Given the description of an element on the screen output the (x, y) to click on. 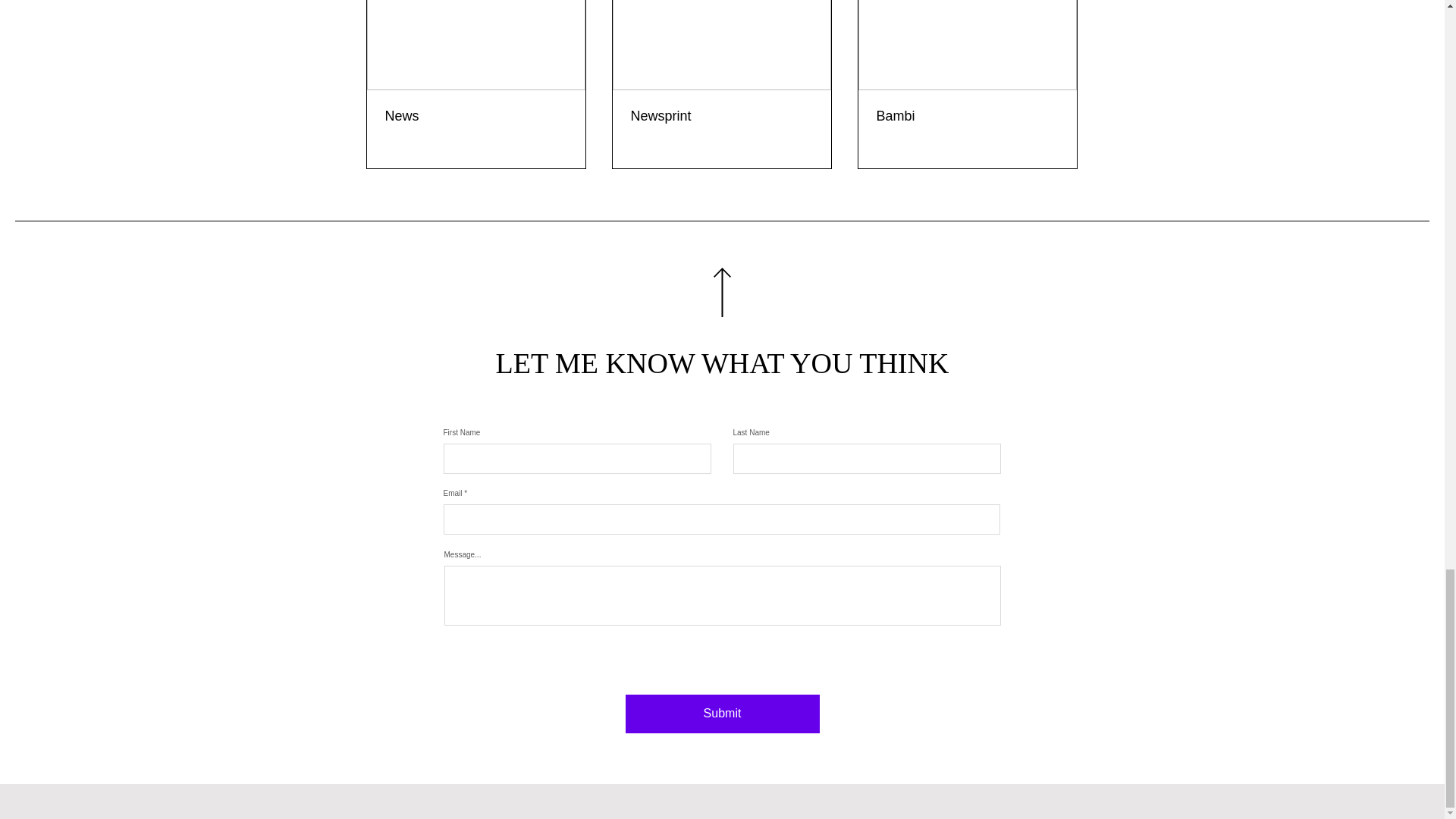
Bambi (967, 116)
Submit (721, 713)
Newsprint (721, 116)
News (476, 116)
